Given the description of an element on the screen output the (x, y) to click on. 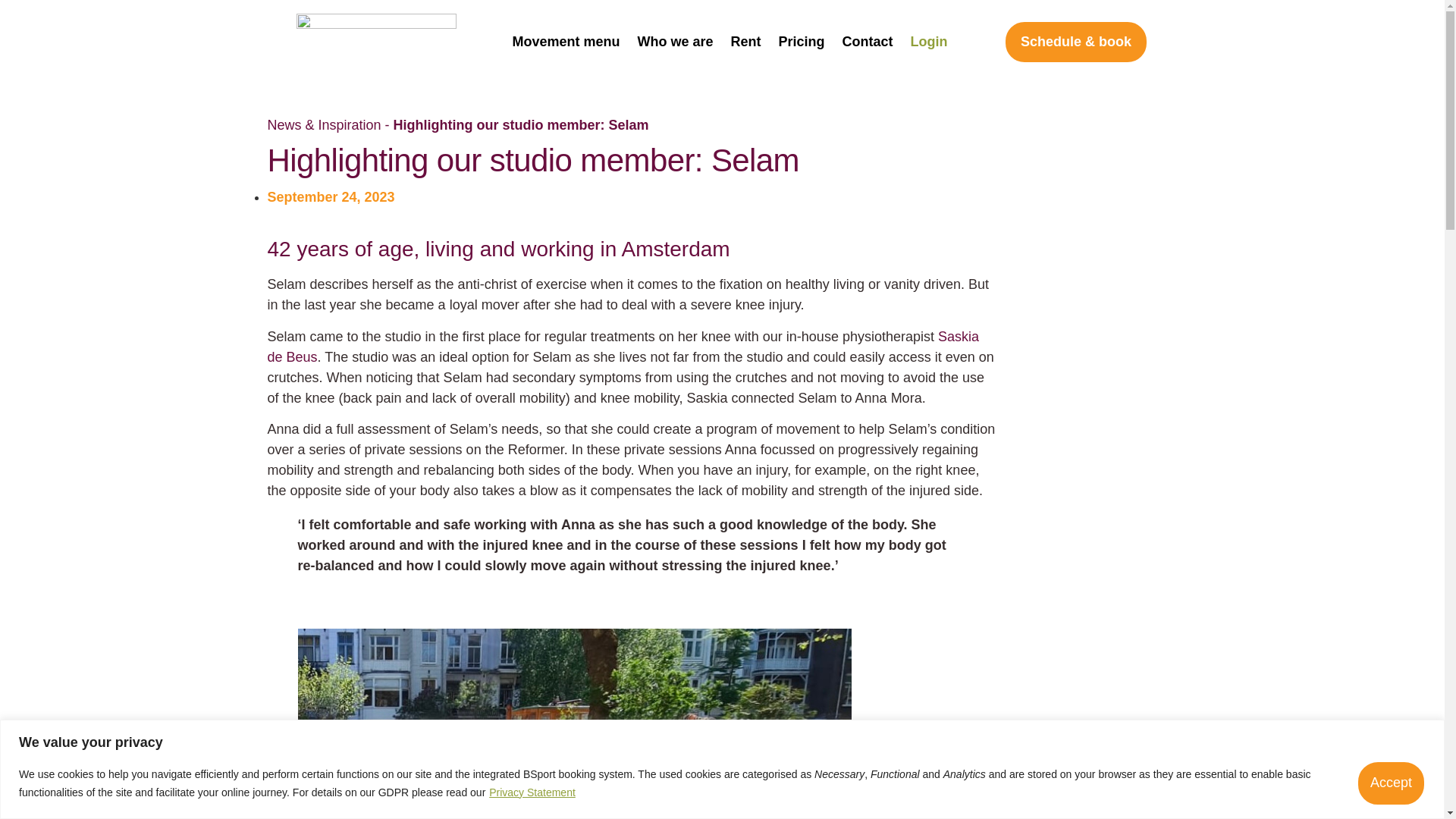
Login (929, 42)
Accept (1390, 782)
Movement menu (565, 42)
Contact (867, 42)
Rent (745, 42)
Pricing (801, 42)
Who we are (674, 42)
Privacy Statement (531, 792)
